Given the description of an element on the screen output the (x, y) to click on. 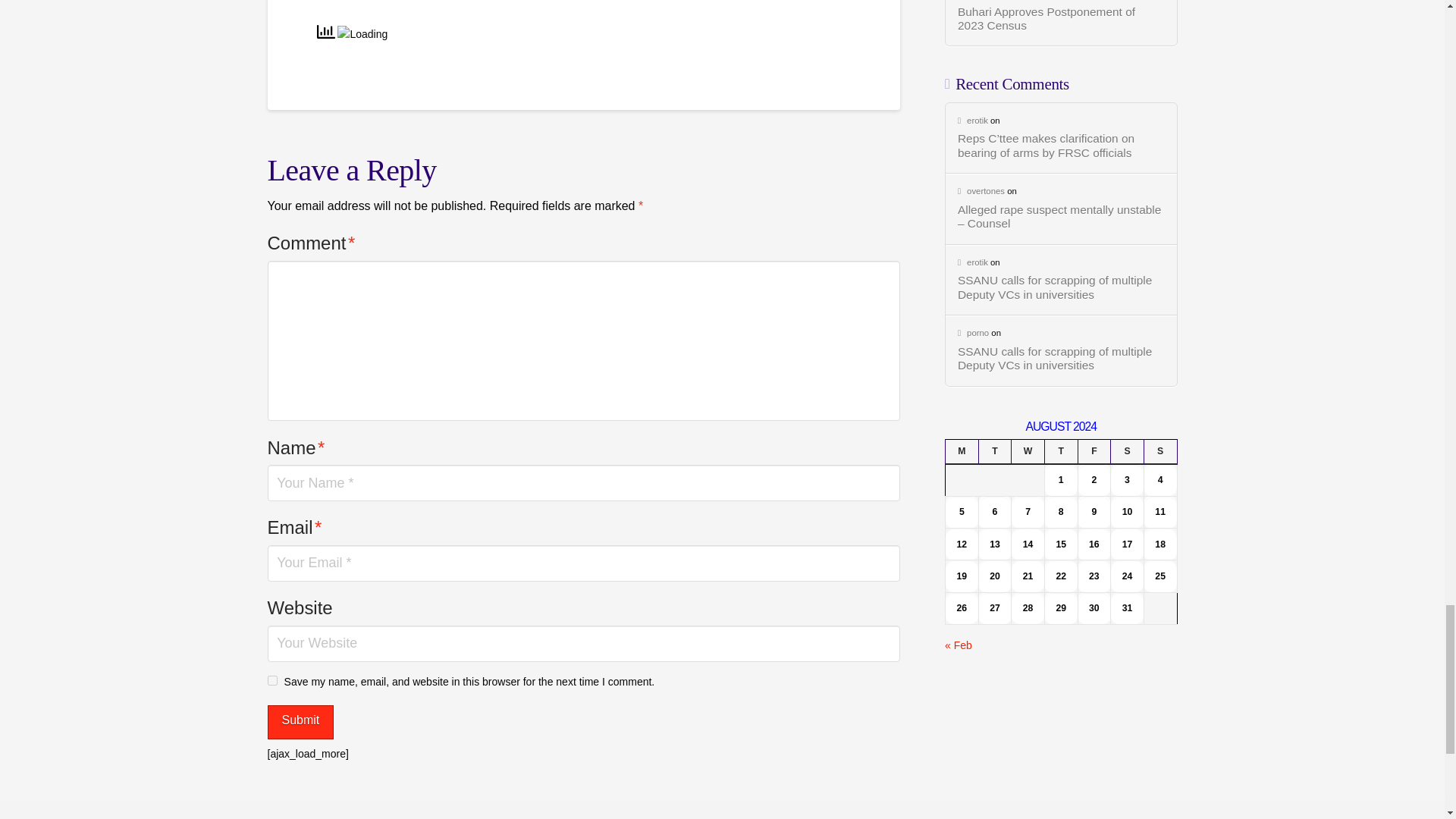
erotik (973, 261)
erotik (973, 120)
VANGUARD (342, 0)
Buhari Approves Postponement of 2023 Census (1061, 18)
Saturday (1127, 451)
overtones (981, 190)
Friday (1093, 451)
Thursday (1060, 451)
yes (271, 680)
